Given the description of an element on the screen output the (x, y) to click on. 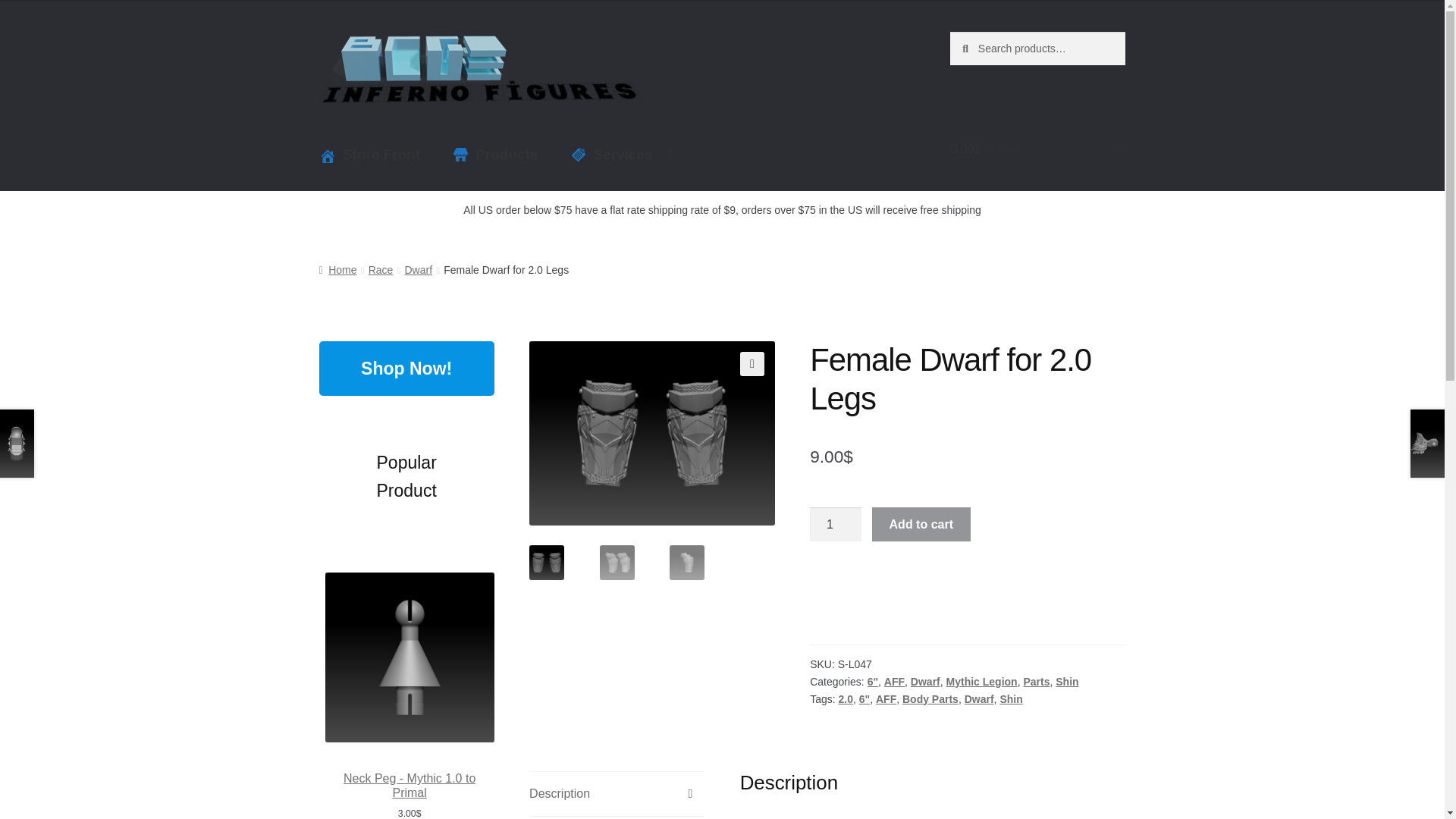
AFF (886, 698)
Store Front (369, 155)
Parts (1036, 681)
S-L047 - A (897, 433)
6" (864, 698)
View your shopping cart (1037, 149)
Mythic Legion (981, 681)
Services (621, 155)
Shin (1010, 698)
Dwarf (978, 698)
2.0 (845, 698)
S-L047 - F (651, 433)
Products (496, 155)
Dwarf (418, 269)
